Given the description of an element on the screen output the (x, y) to click on. 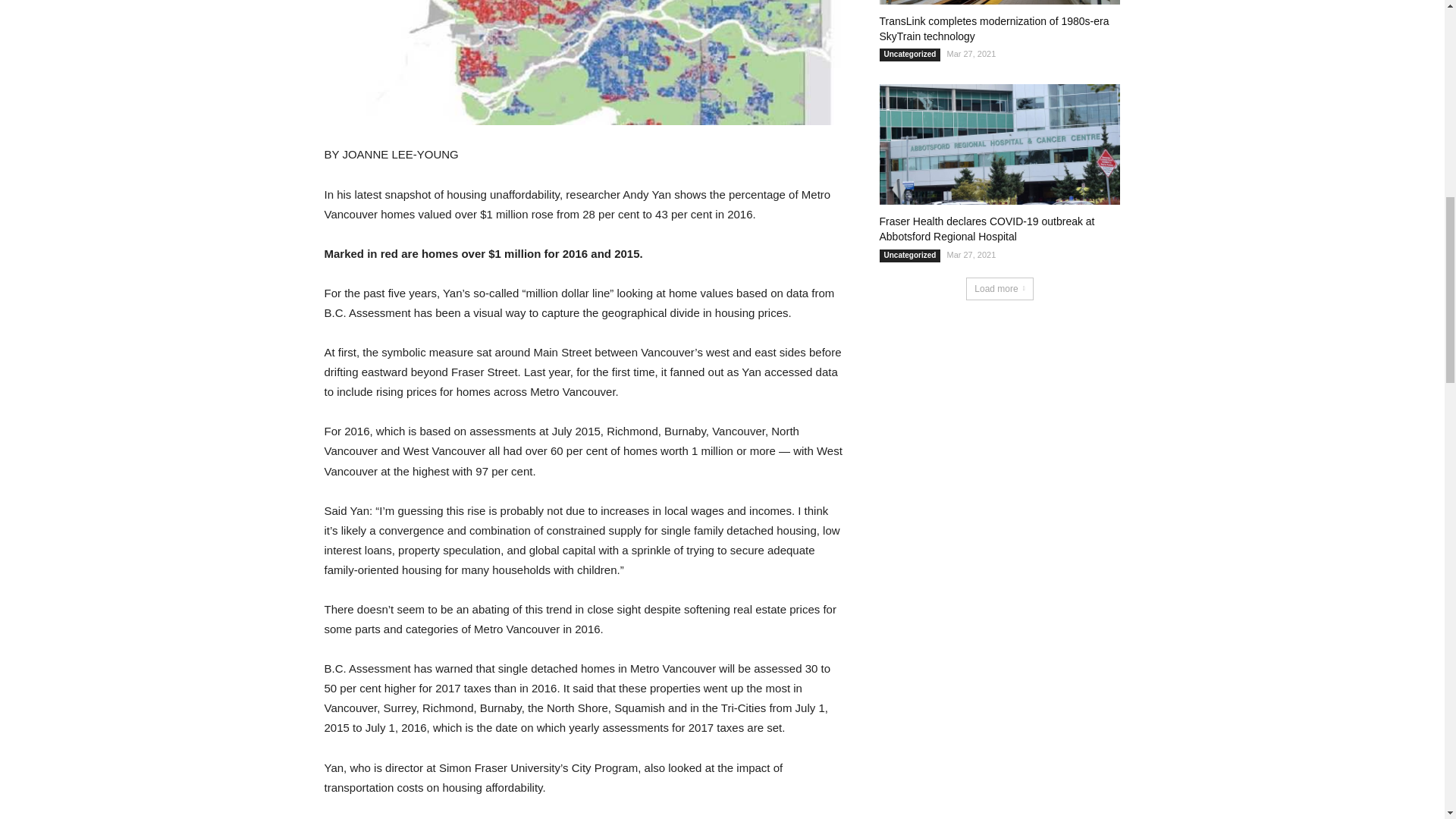
metro-realestate (583, 62)
